Given the description of an element on the screen output the (x, y) to click on. 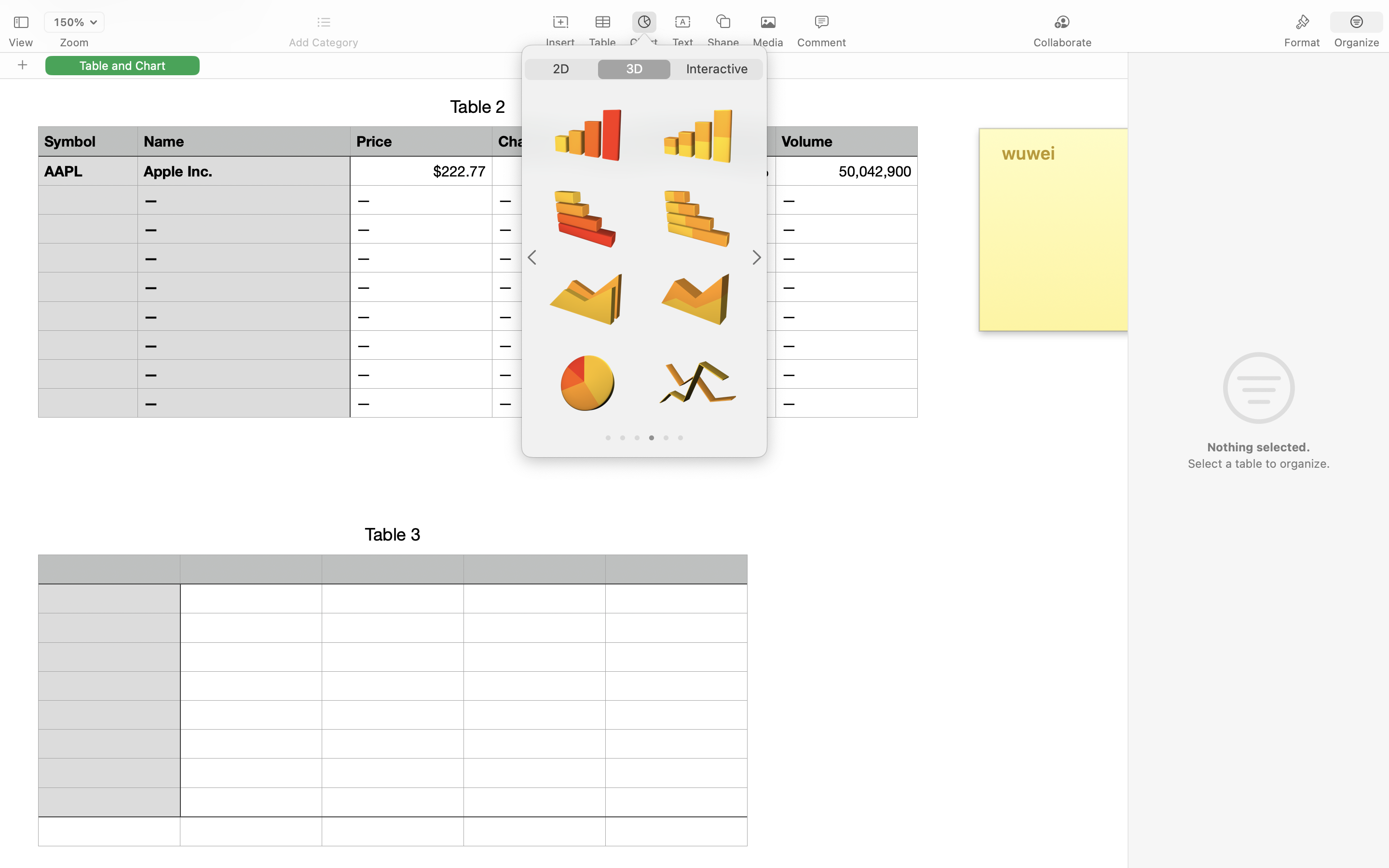
<AXUIElement 0x2889fffa0> {pid=1420} Element type: AXGroup (1329, 22)
Format Element type: AXStaticText (1302, 42)
<AXUIElement 0x290171bc0> {pid=1420} Element type: AXRadioGroup (643, 69)
